Given the description of an element on the screen output the (x, y) to click on. 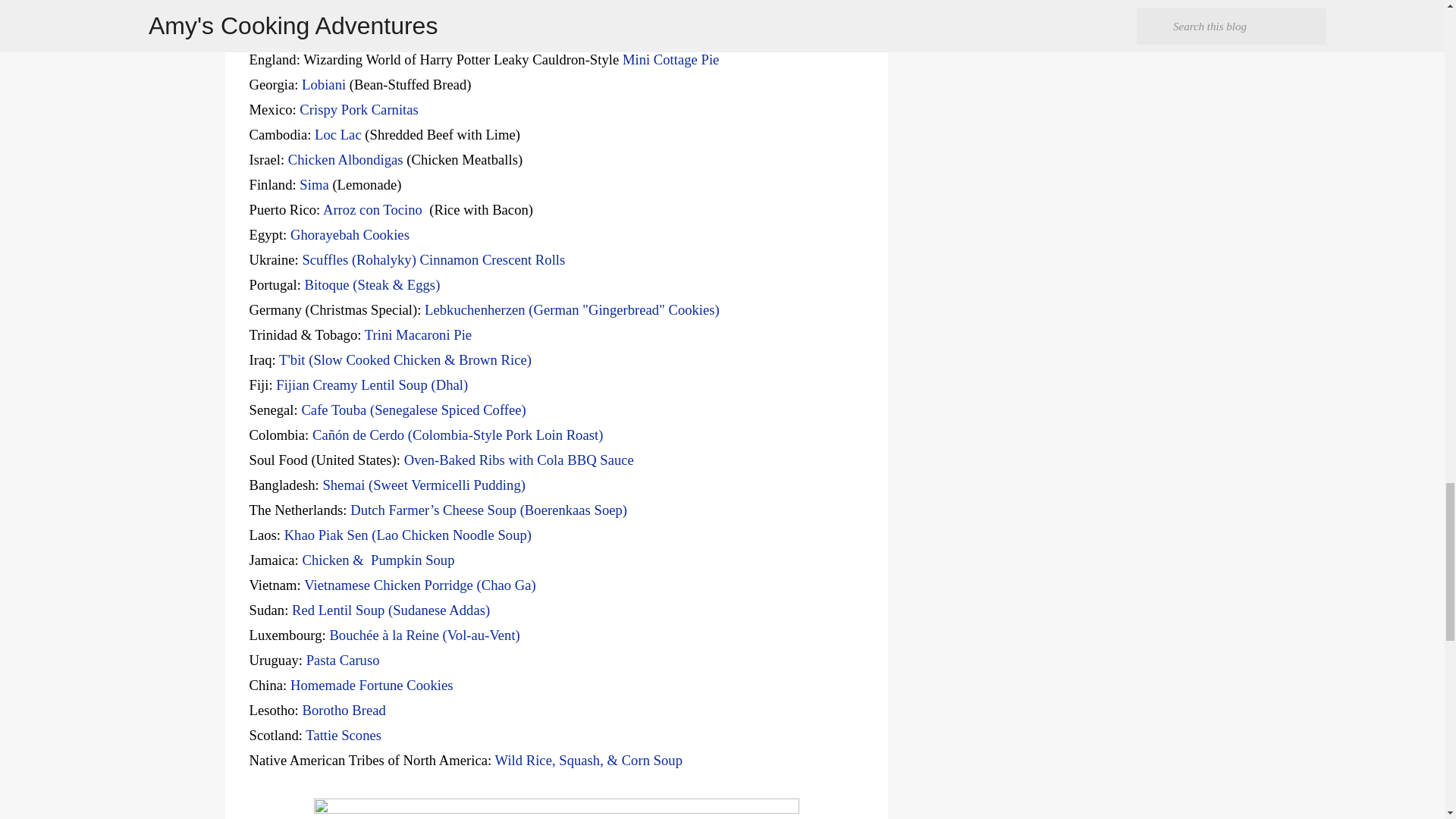
Lobiani (323, 84)
Loc Lac (337, 134)
Mini Cottage Pie (671, 59)
Buticha (326, 34)
Chrusciki (322, 9)
Crispy Pork Carnitas (359, 109)
